Given the description of an element on the screen output the (x, y) to click on. 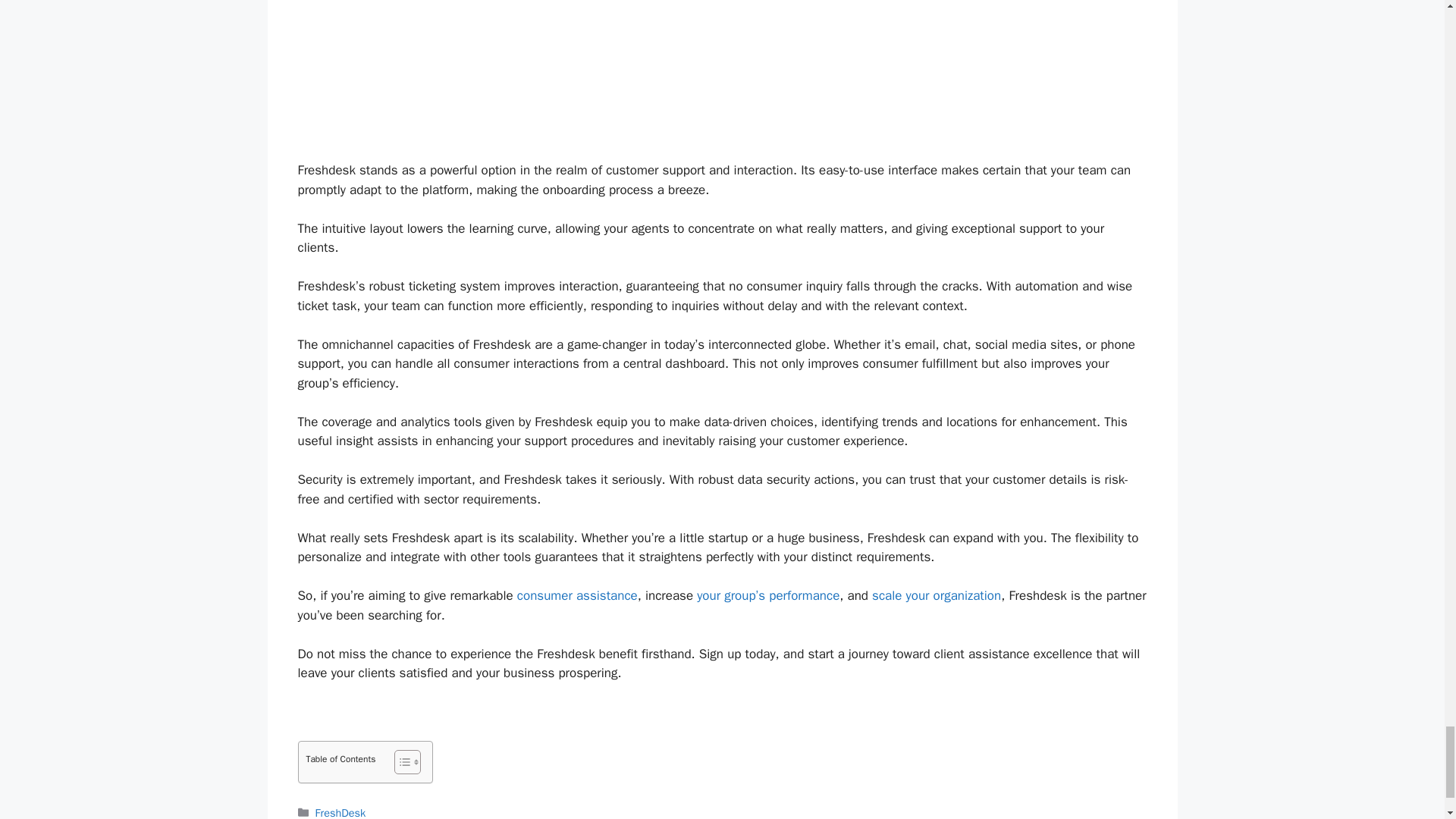
FreshDesk (340, 812)
consumer assistance (576, 595)
scale your organization (936, 595)
